Given the description of an element on the screen output the (x, y) to click on. 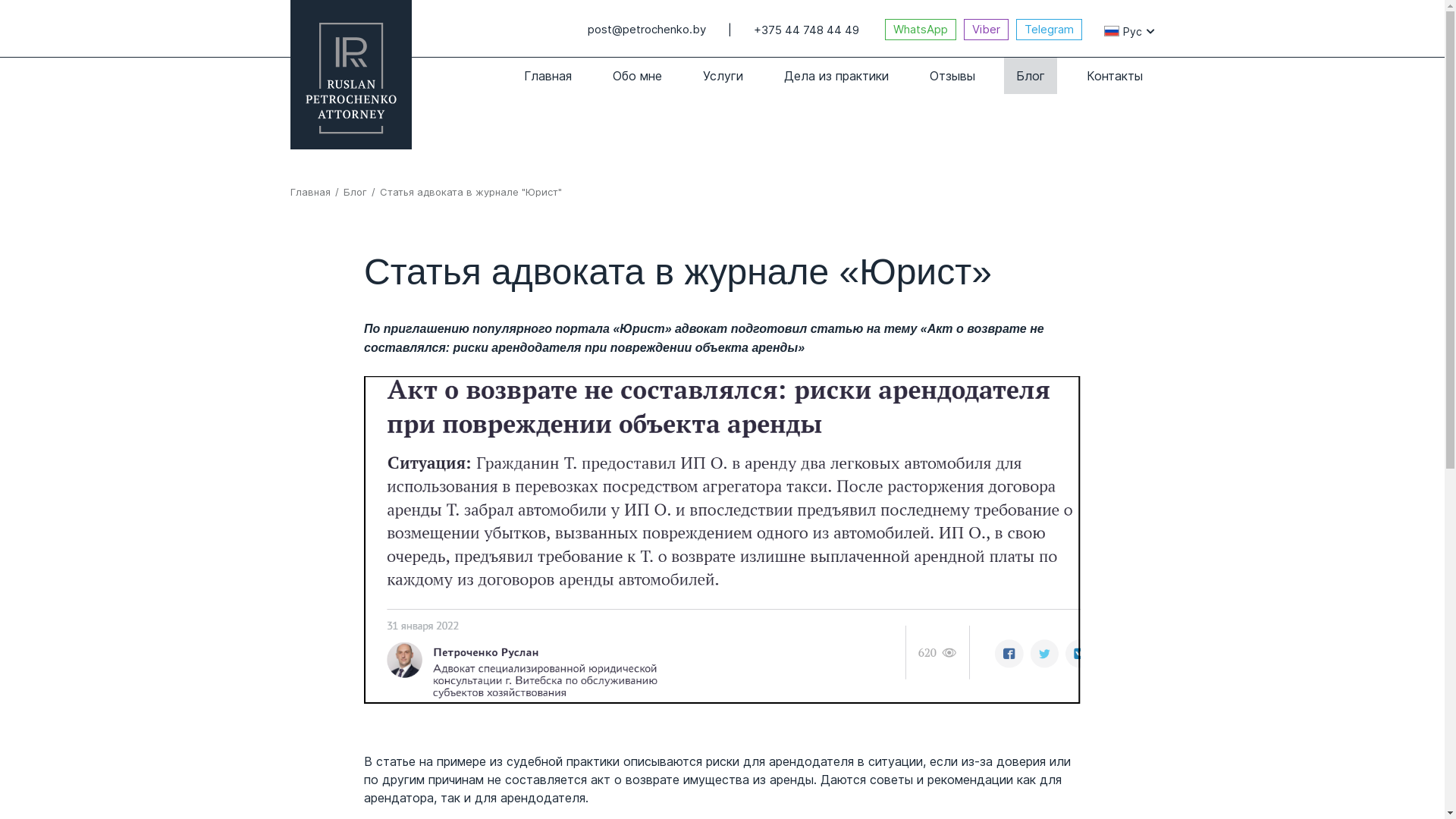
Telegram Element type: text (1049, 29)
post@petrochenko.by Element type: text (645, 29)
Viber Element type: text (985, 29)
+375 44 748 44 49 Element type: text (806, 30)
WhatsApp Element type: text (919, 29)
